Given the description of an element on the screen output the (x, y) to click on. 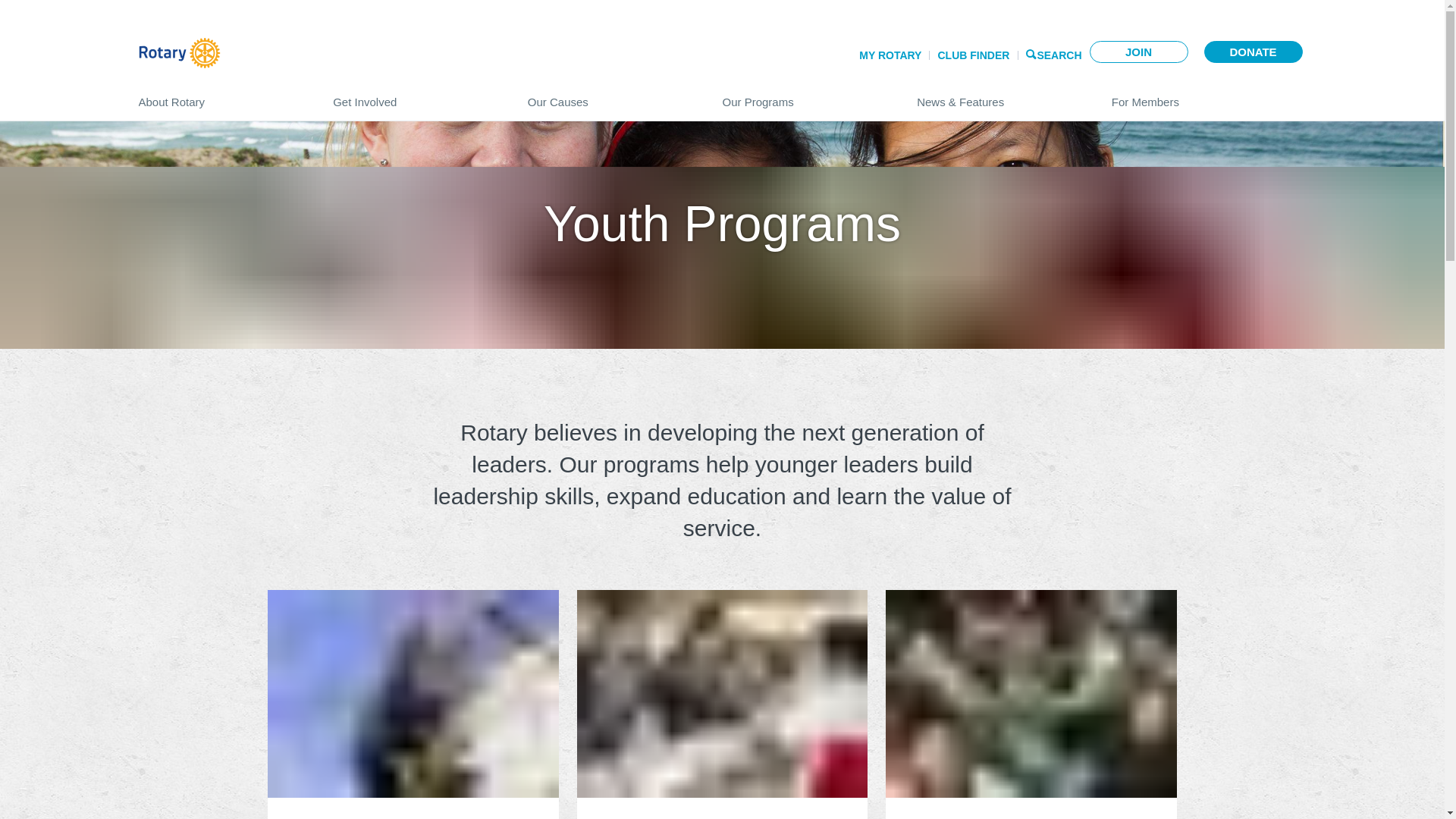
SEARCH (241, 44)
CLUB FINDER (973, 54)
SEARCH (1058, 54)
DONATE (1253, 51)
JOIN (1138, 51)
Skip to main content (15, 37)
Home (178, 52)
MY ROTARY (22, 44)
